Given the description of an element on the screen output the (x, y) to click on. 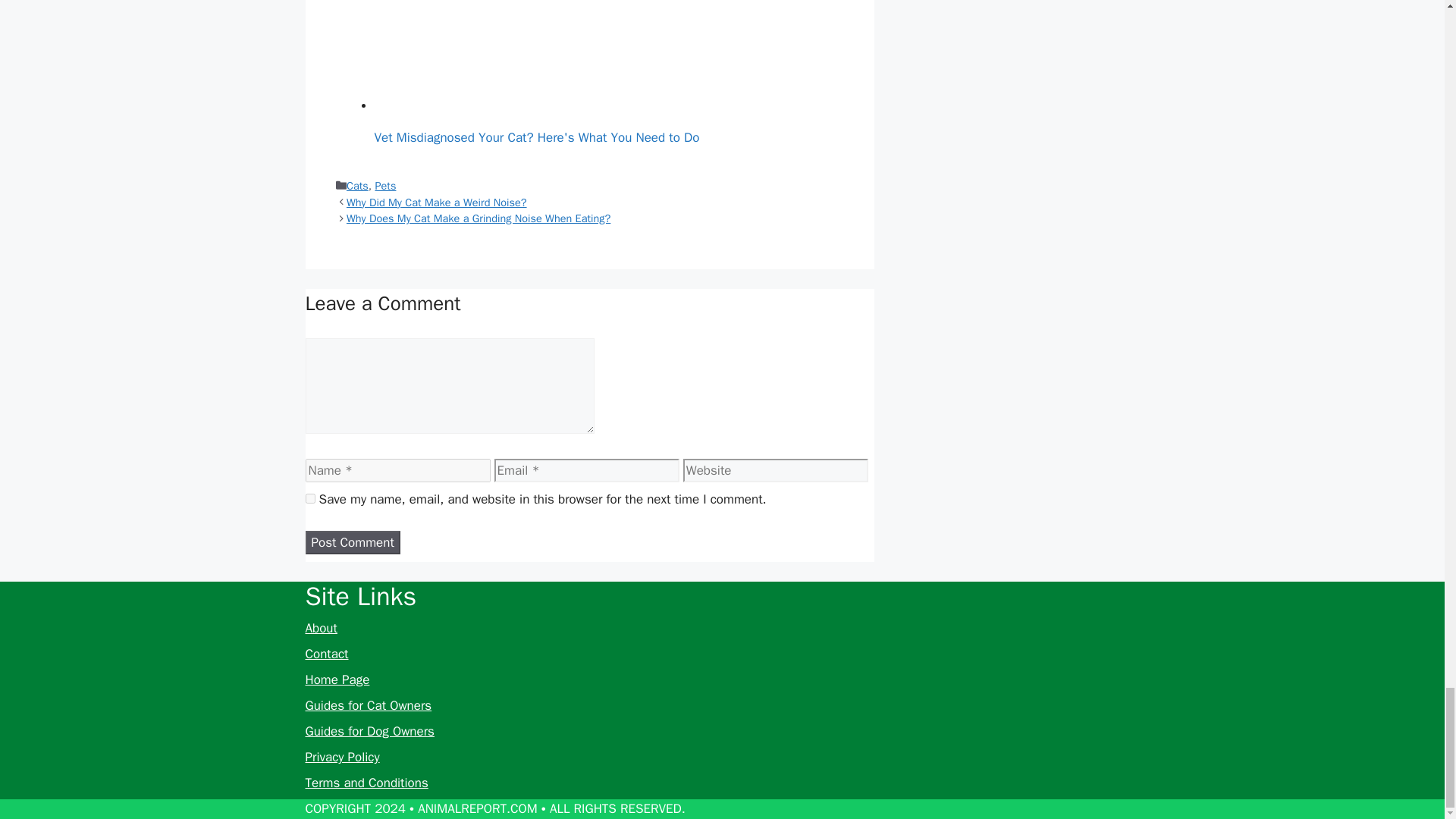
Post Comment (351, 542)
yes (309, 498)
